Given the description of an element on the screen output the (x, y) to click on. 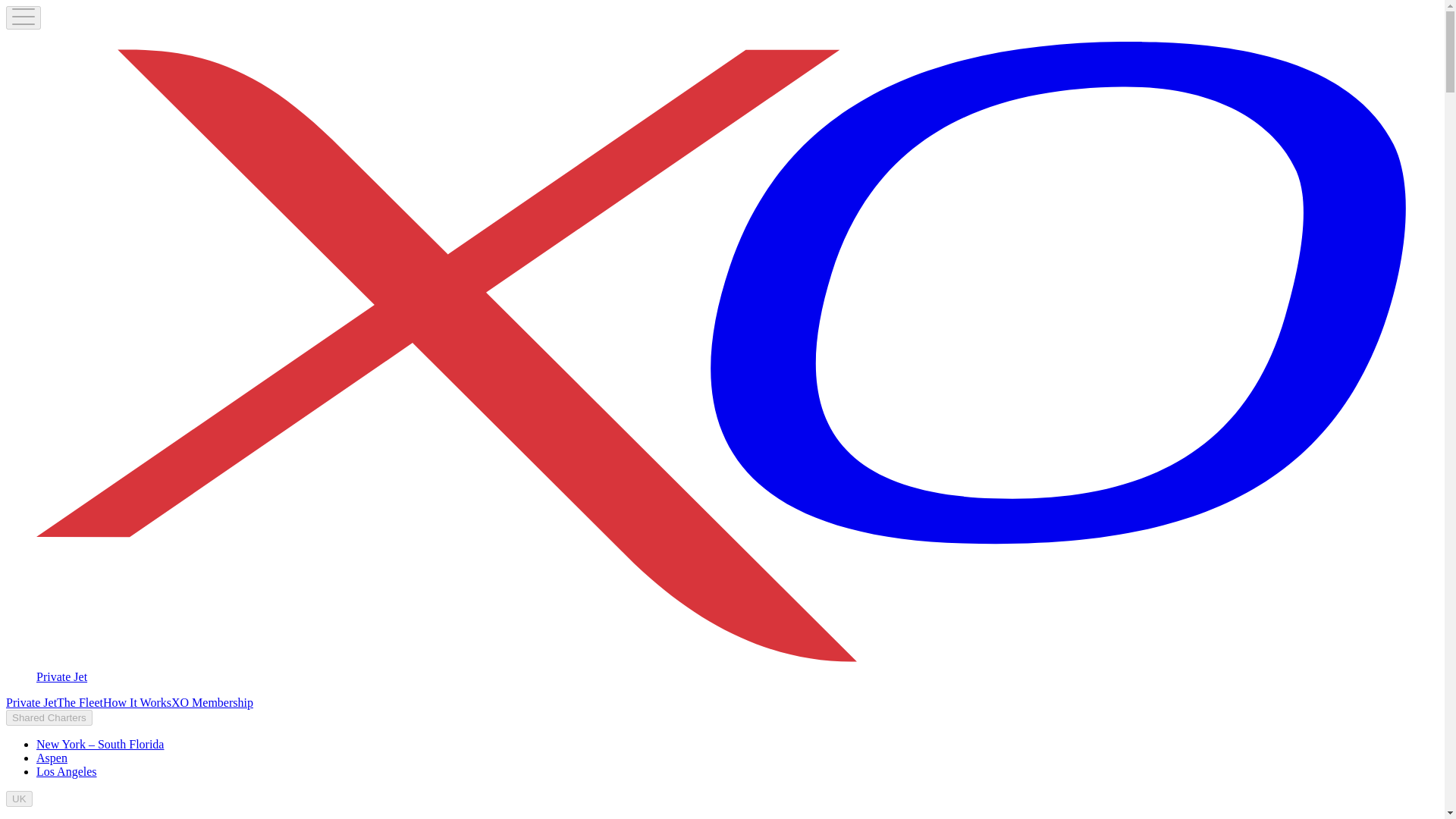
How It Works (137, 702)
The Fleet (79, 702)
XO Membership (212, 702)
The Fleet (79, 702)
XO Membership (212, 702)
Los Angeles (66, 771)
How It Works (137, 702)
Aspen (51, 757)
UK (18, 798)
Shared Charters (49, 717)
Private Jet (30, 702)
Private Jet (30, 702)
